Given the description of an element on the screen output the (x, y) to click on. 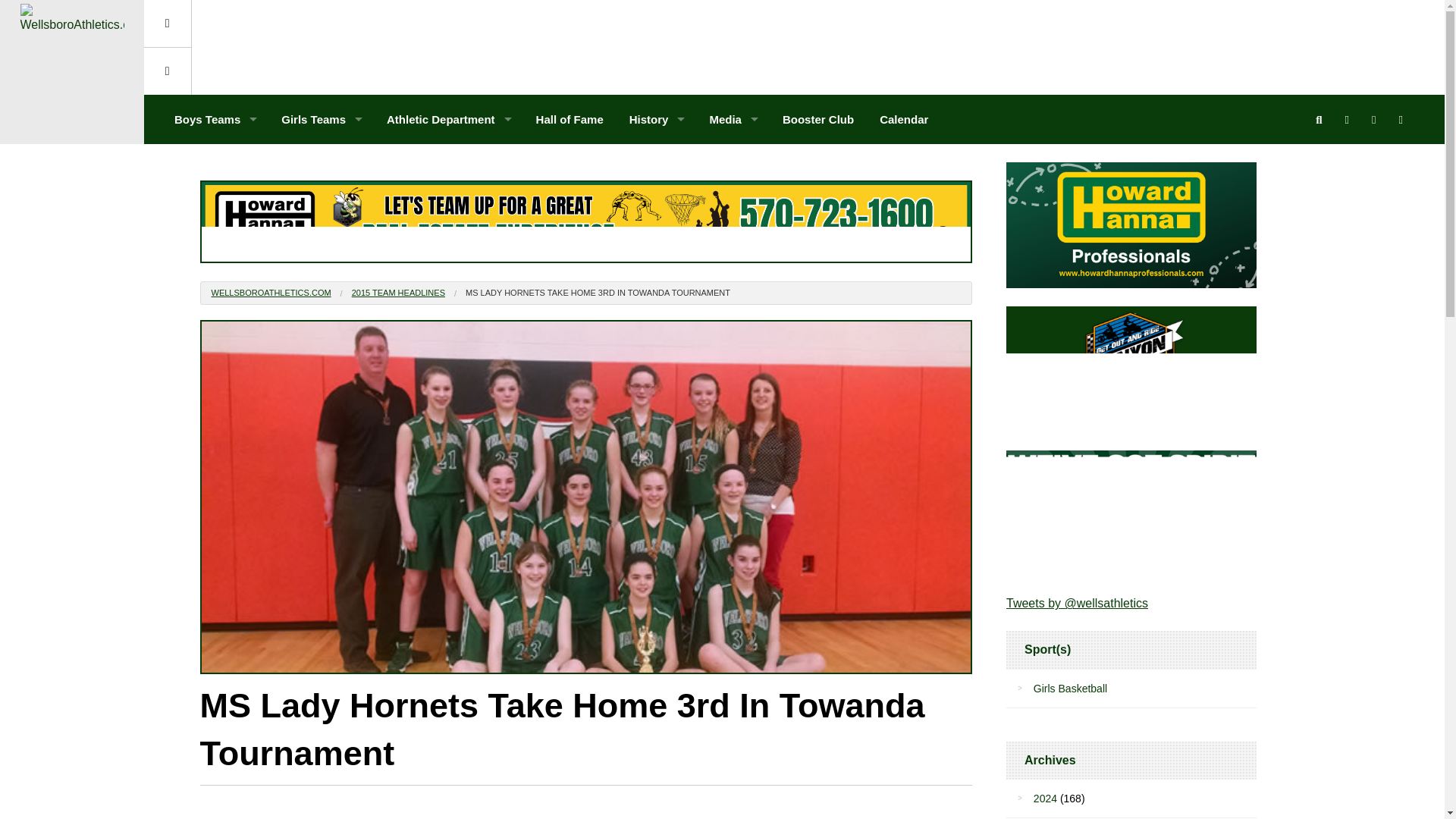
Canyon Motorsports (1131, 369)
Howard Hanna Professionals (586, 221)
Howard Hanna Professionals (1131, 225)
Shop Wellsboro Hornet Gear on our BSN Sports Team Store (1131, 513)
